Given the description of an element on the screen output the (x, y) to click on. 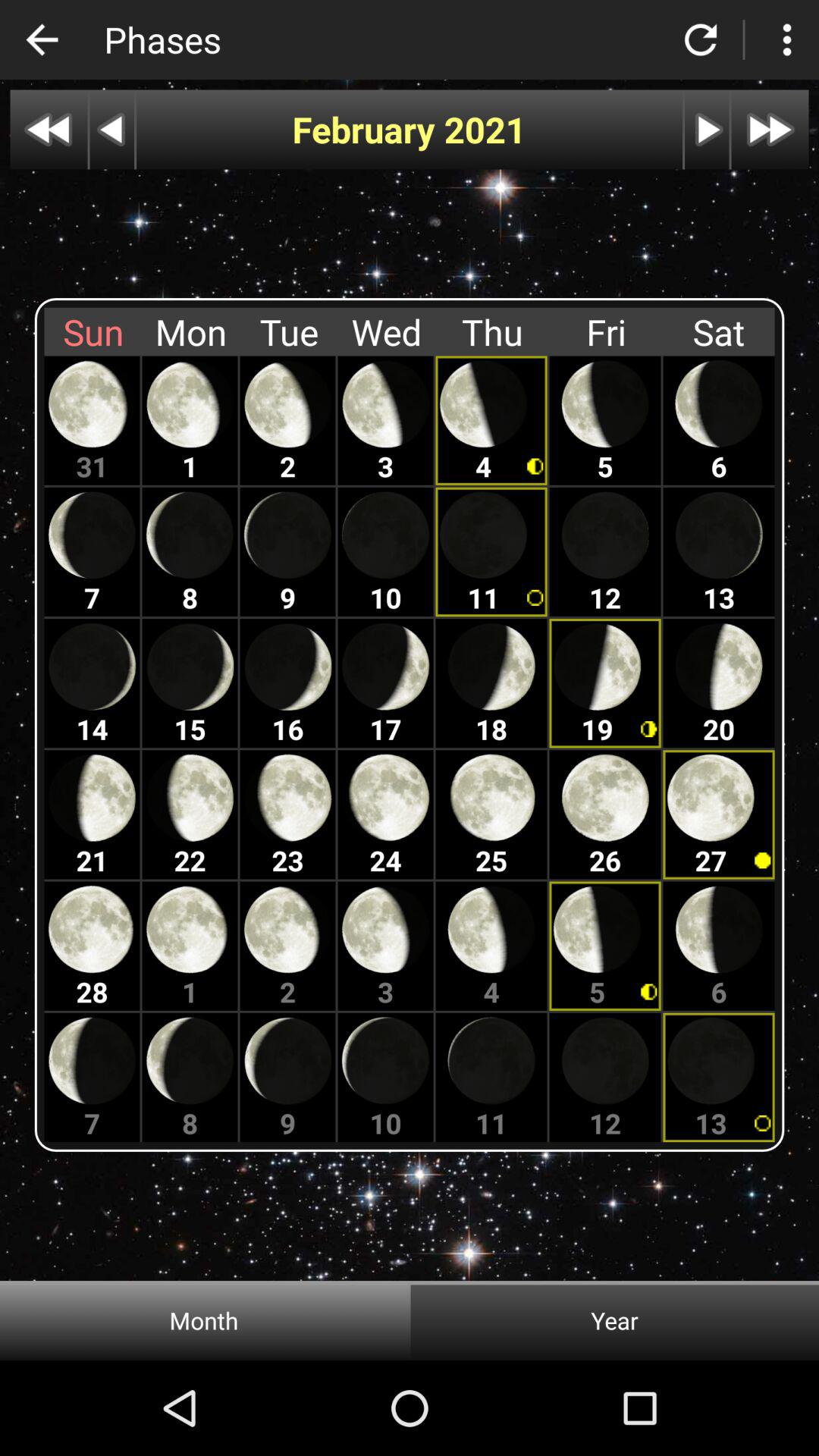
reload the page (700, 39)
